Given the description of an element on the screen output the (x, y) to click on. 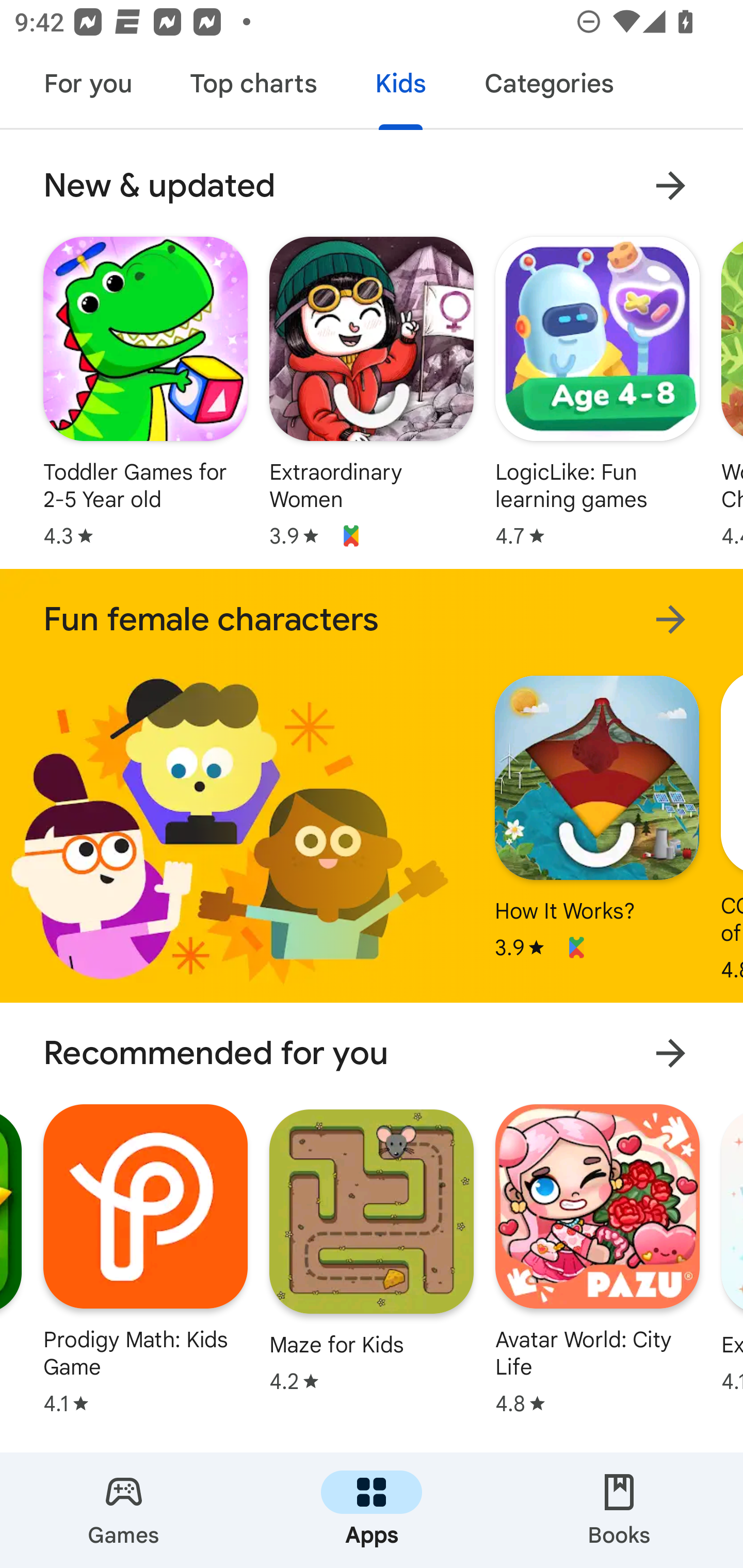
For you (87, 86)
Top charts (253, 86)
Categories (548, 86)
New & updated More results for New & updated (371, 185)
More results for New & updated (670, 185)
Toddler Games for 2-5 Year old
Star rating: 4.3
 (145, 391)
Extraordinary Women
Star rating: 3.9
 (371, 391)
LogicLike: Fun learning games
Star rating: 4.7
 (597, 391)
More results for Fun female characters (670, 619)
How It Works?
Star rating: 3.9
 (596, 816)
More results for Recommended for you (670, 1052)
Prodigy Math: Kids Game
Star rating: 4.1
 (145, 1258)
Maze for Kids
Star rating: 4.2
 (371, 1250)
Avatar World: City Life
Star rating: 4.8
 (597, 1258)
Games (123, 1509)
Books (619, 1509)
